Given the description of an element on the screen output the (x, y) to click on. 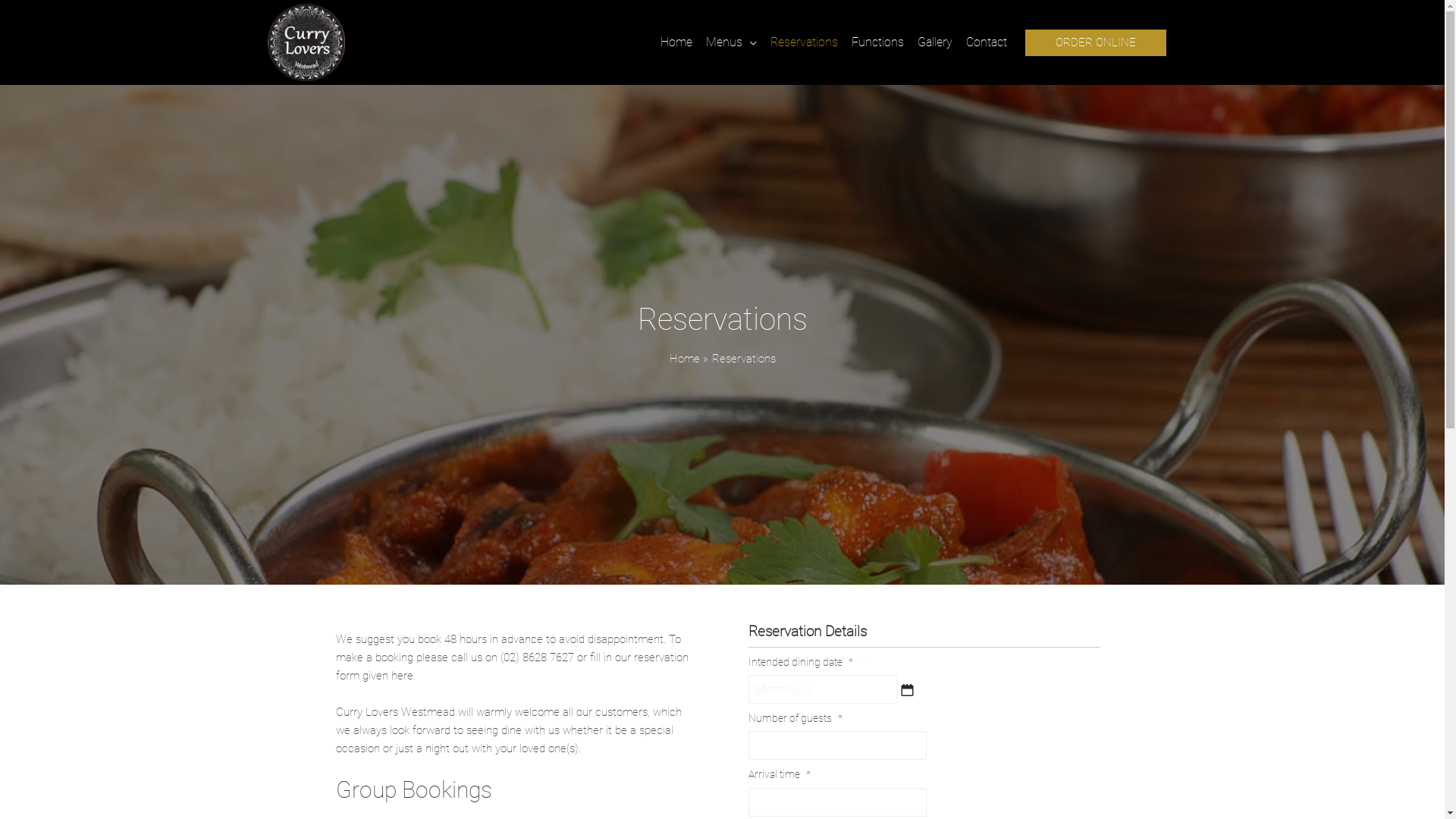
ORDER ONLINE Element type: text (1095, 41)
Functions Element type: text (877, 42)
Home Element type: text (676, 42)
Select date Element type: hover (906, 690)
Gallery Element type: text (934, 42)
Menus Element type: text (731, 42)
Reservations Element type: text (803, 42)
Contact Element type: text (985, 42)
Home Element type: text (683, 358)
